Given the description of an element on the screen output the (x, y) to click on. 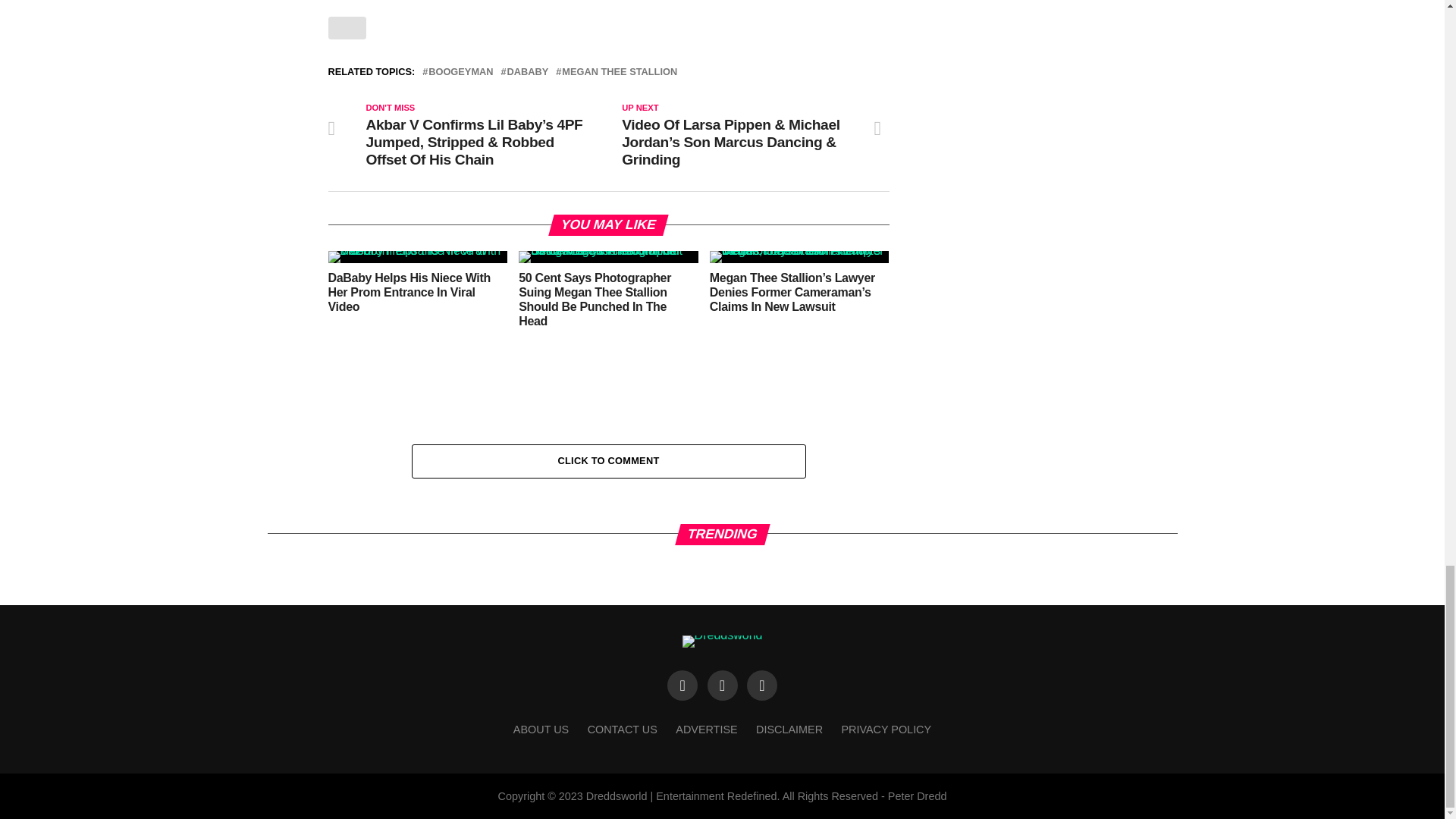
DABABY (527, 71)
CONTACT US (623, 729)
BOOGEYMAN (460, 71)
MEGAN THEE STALLION (619, 71)
ABOUT US (541, 729)
